Given the description of an element on the screen output the (x, y) to click on. 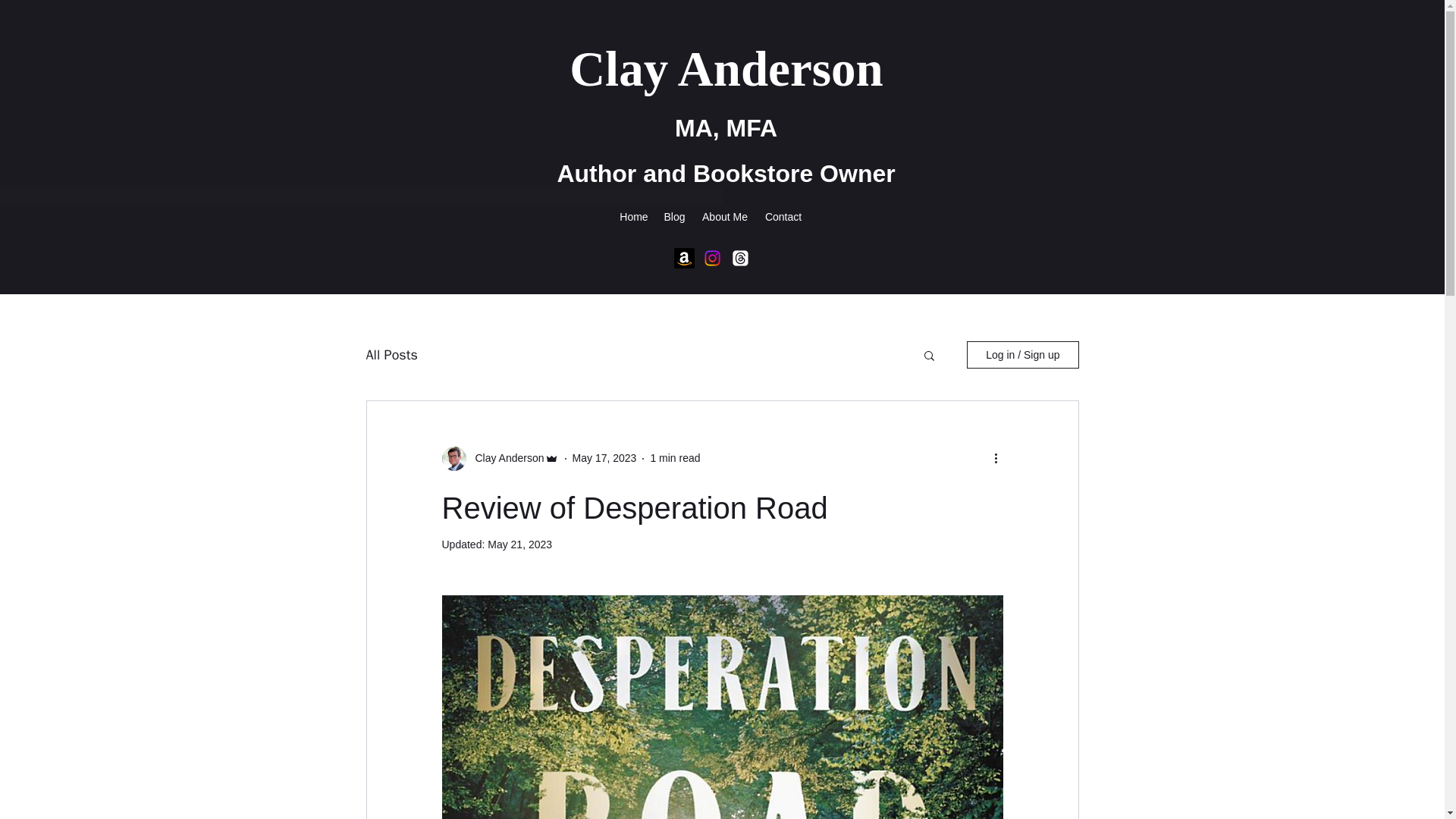
1 min read (674, 458)
All Posts (390, 354)
Clay Anderson  (732, 68)
May 17, 2023 (604, 458)
May 21, 2023 (519, 544)
Home (633, 217)
About Me (725, 217)
Contact (783, 217)
Clay Anderson (504, 458)
